Given the description of an element on the screen output the (x, y) to click on. 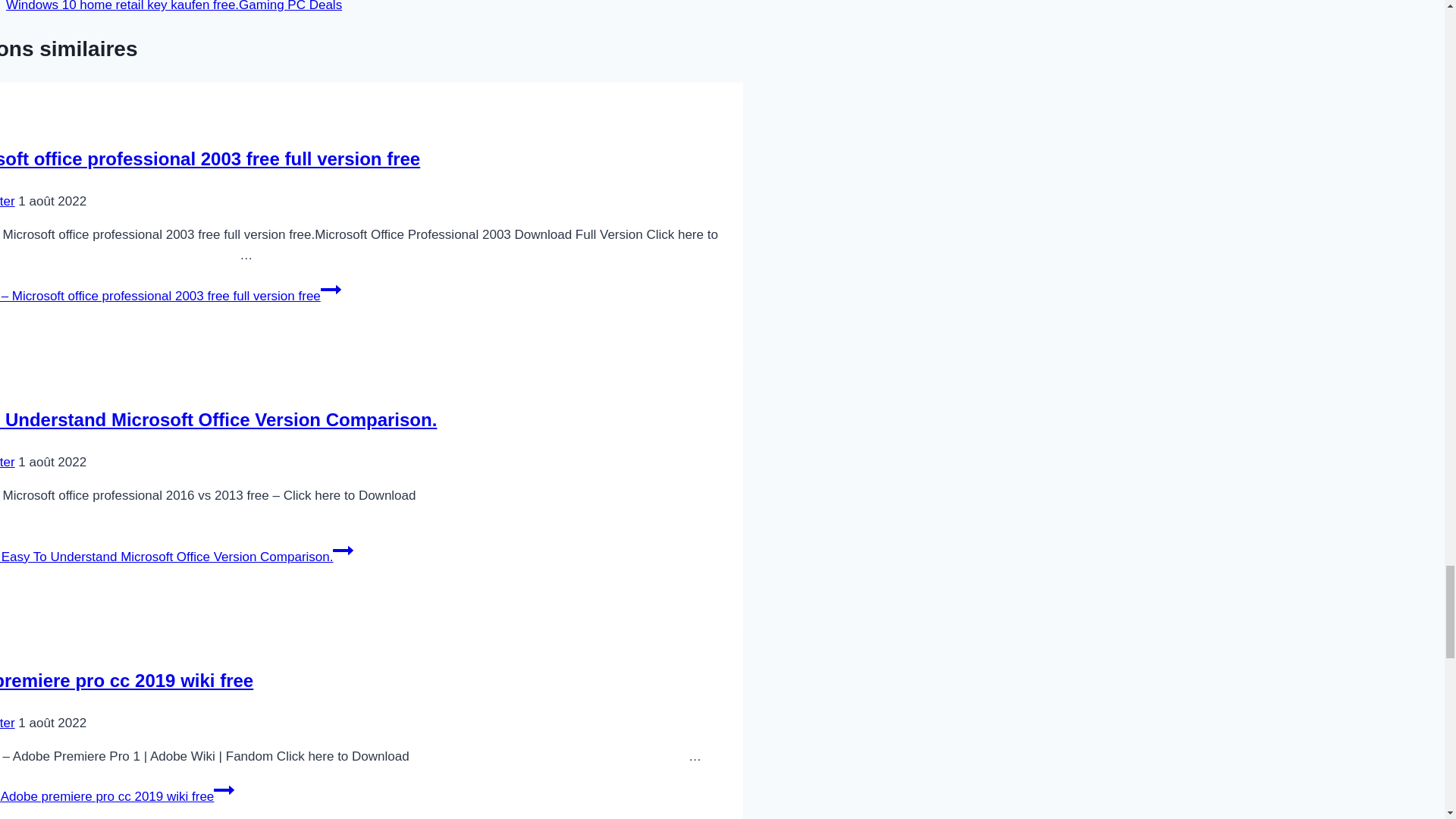
Lire la suite Adobe premiere pro cc 2019 wiki freeContinuer (117, 796)
Continuer (224, 789)
webmaster (7, 722)
webmaster (7, 201)
webmaster (7, 462)
Adobe premiere pro cc 2019 wiki free (126, 680)
Easy To Understand Microsoft Office Version Comparison. (218, 419)
Continuer (330, 289)
Continuer (343, 550)
